Given the description of an element on the screen output the (x, y) to click on. 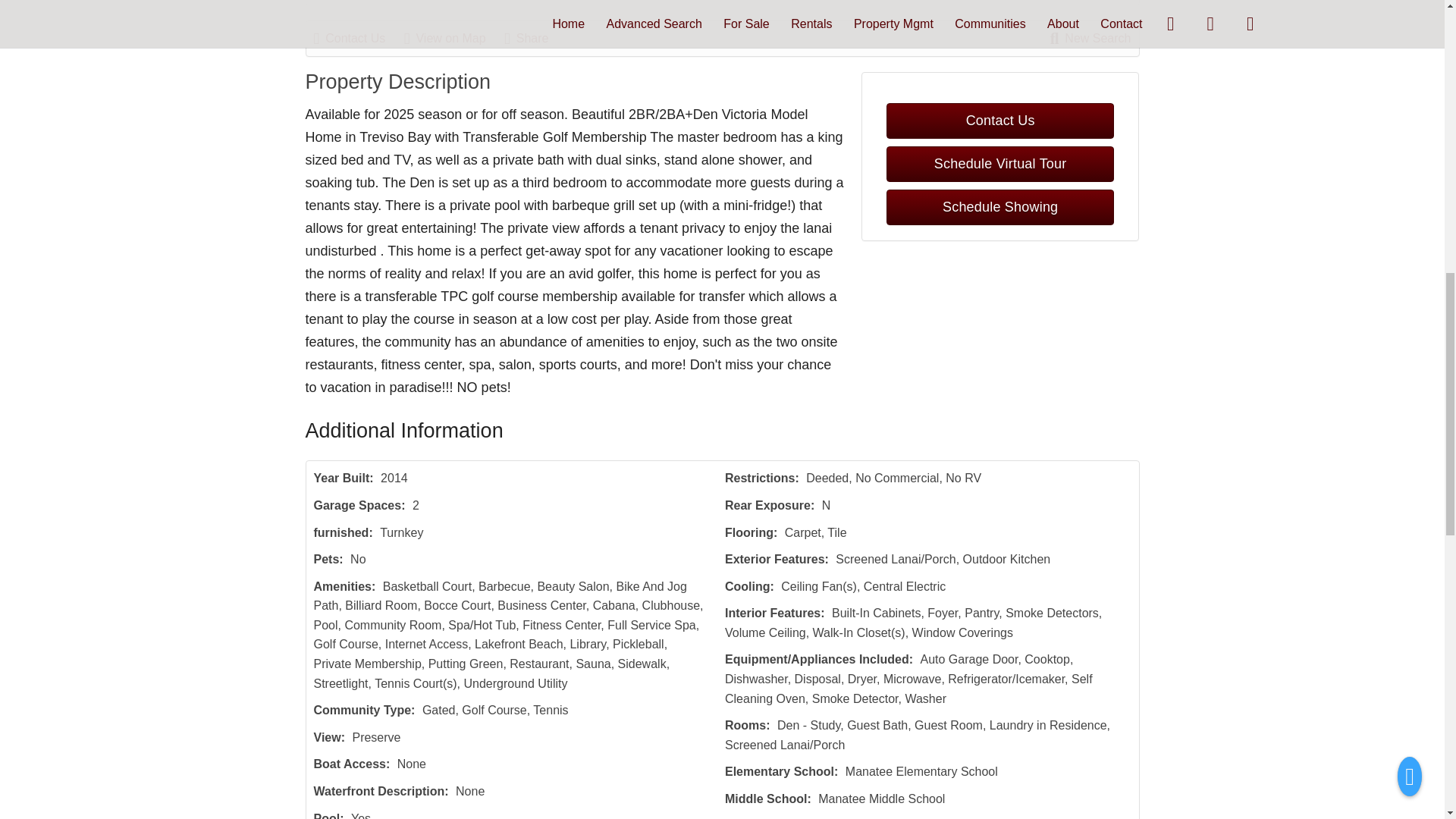
Share (533, 38)
View on Map (452, 38)
New Search (1090, 38)
Contact Us (357, 38)
